Given the description of an element on the screen output the (x, y) to click on. 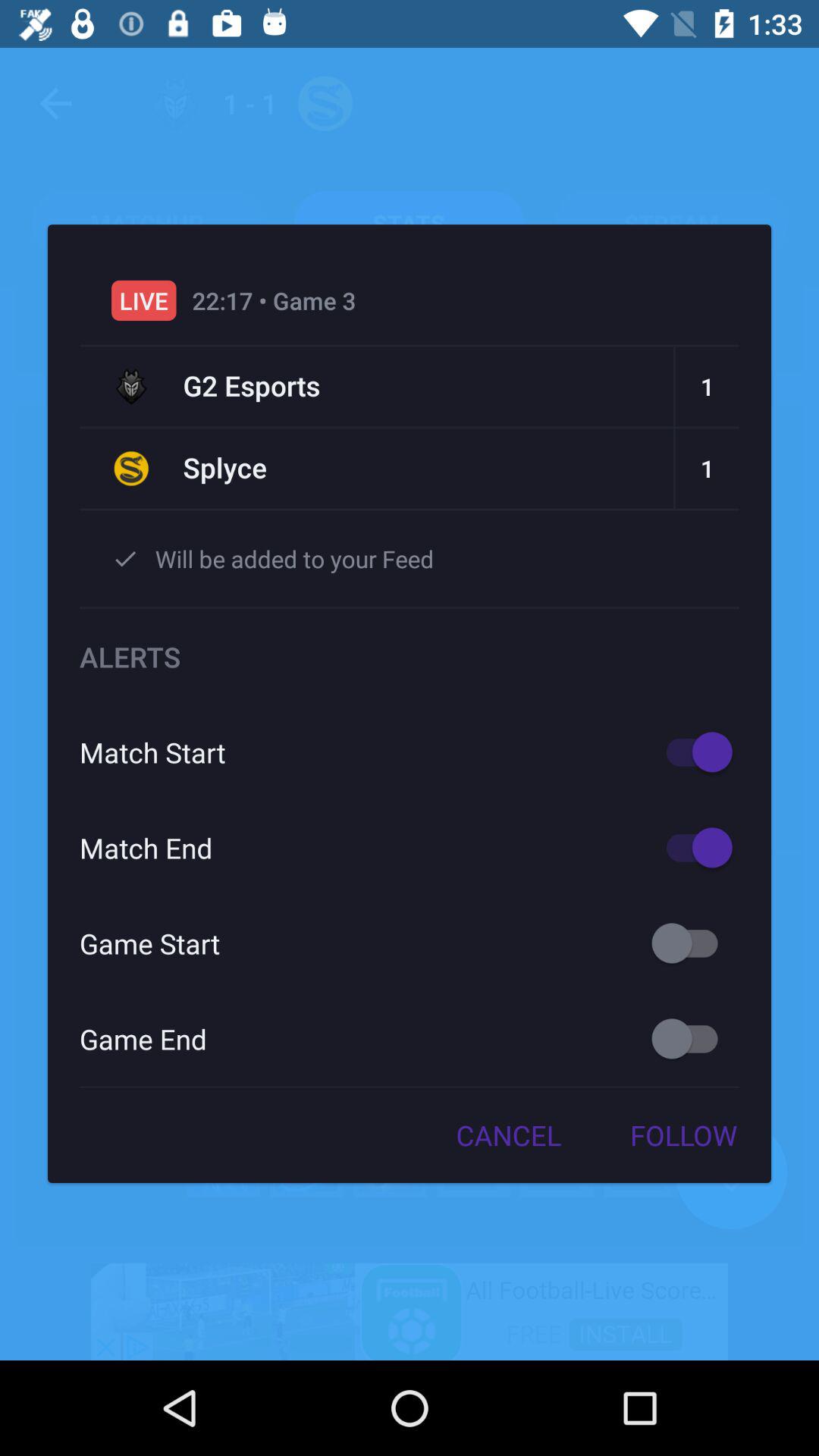
matchend (691, 847)
